Given the description of an element on the screen output the (x, y) to click on. 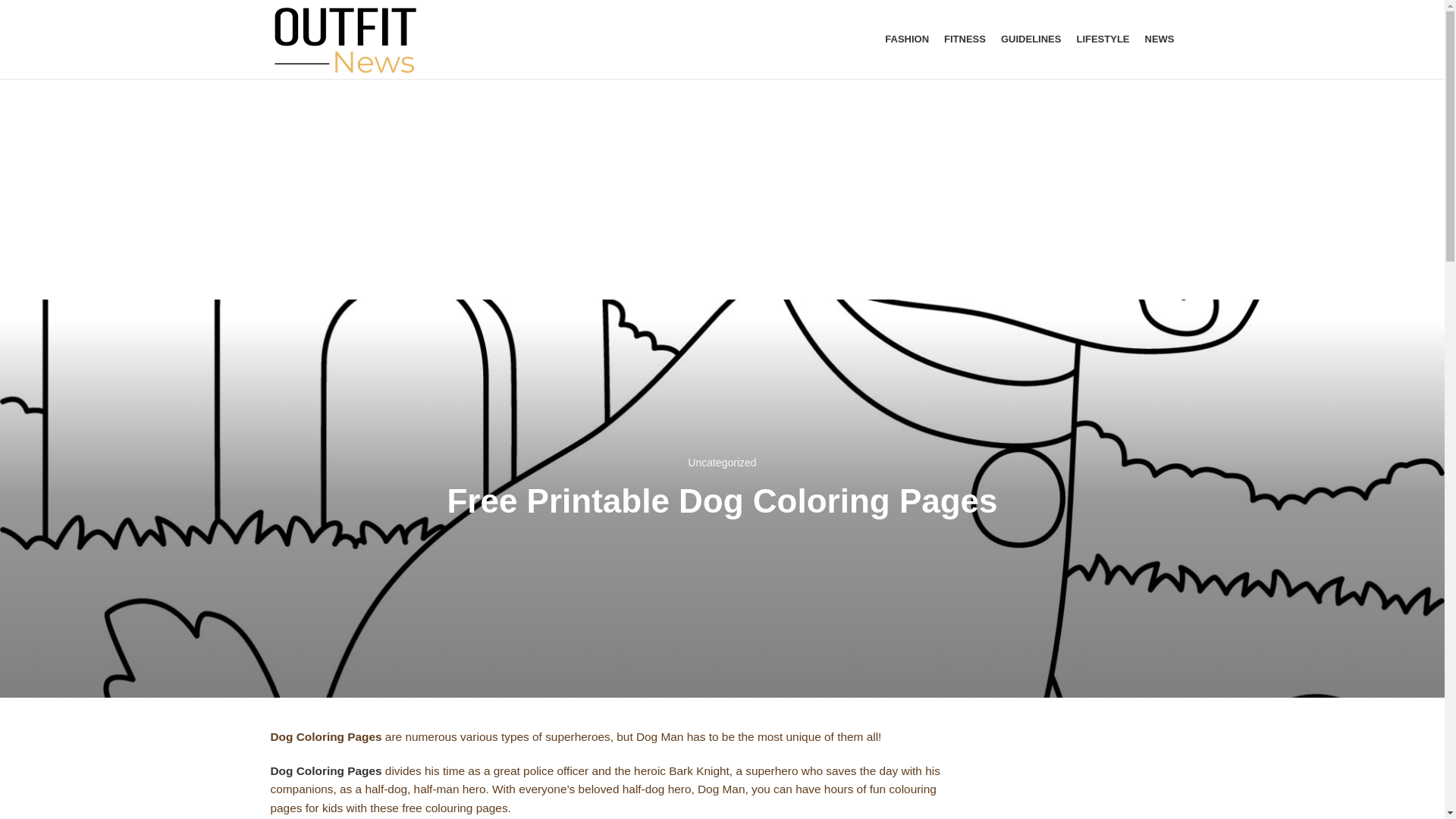
FITNESS (964, 39)
NEWS (1159, 39)
Dog Coloring Pages (326, 770)
Uncategorized (721, 462)
FASHION (906, 39)
GUIDELINES (1030, 39)
LIFESTYLE (1102, 39)
